Given the description of an element on the screen output the (x, y) to click on. 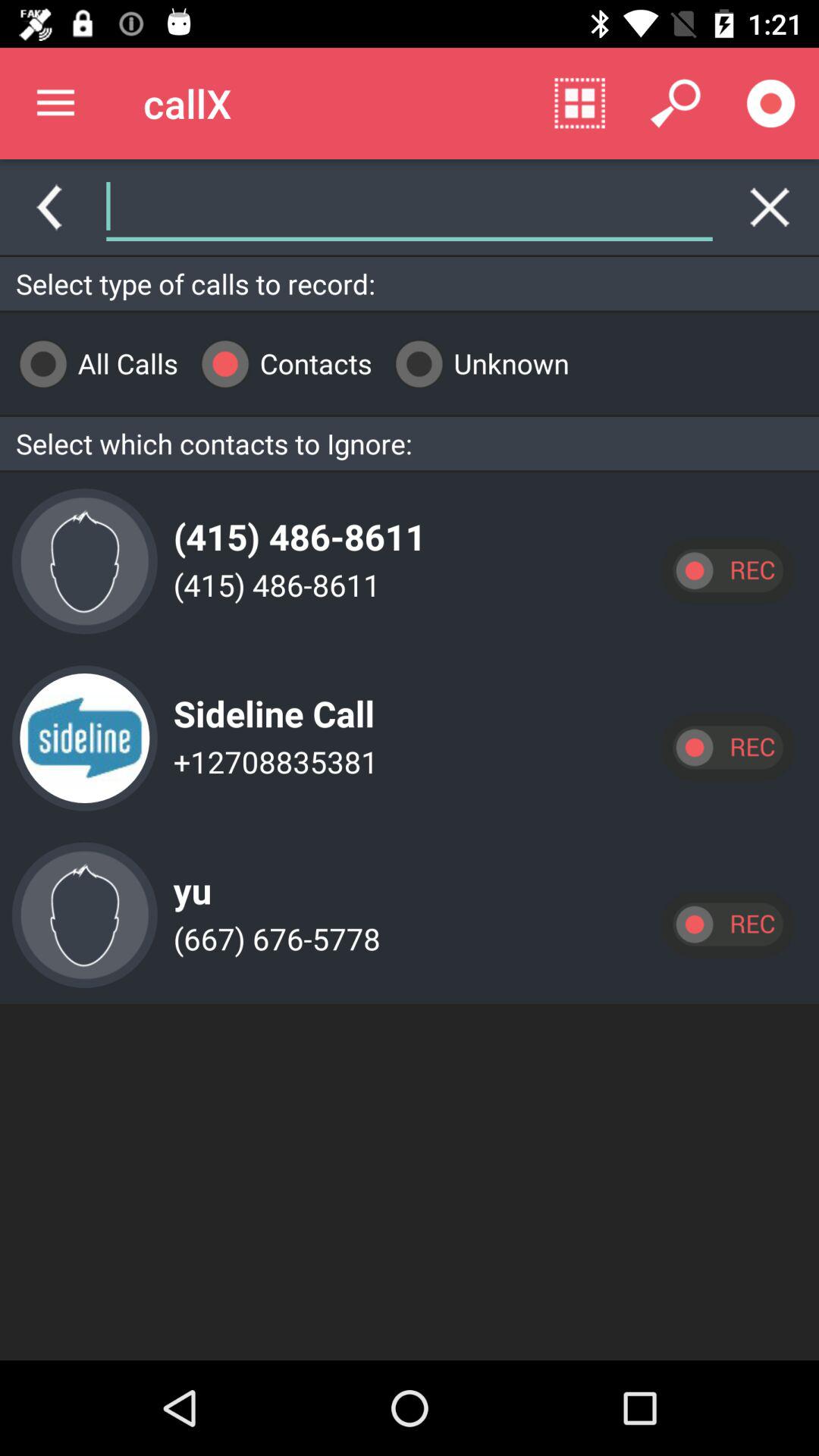
launch item to the left of the callx icon (55, 103)
